Given the description of an element on the screen output the (x, y) to click on. 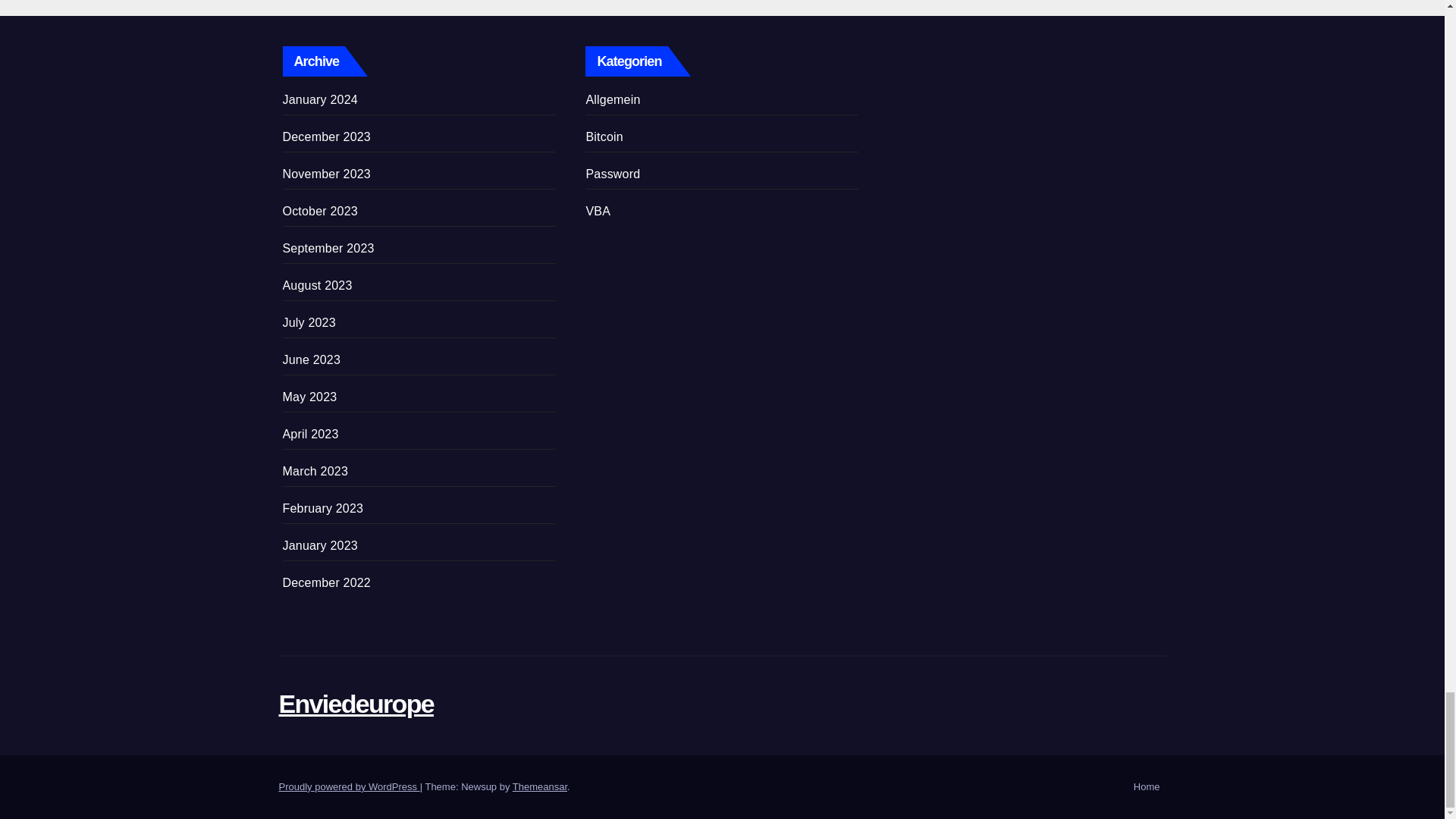
Home (1146, 786)
